Given the description of an element on the screen output the (x, y) to click on. 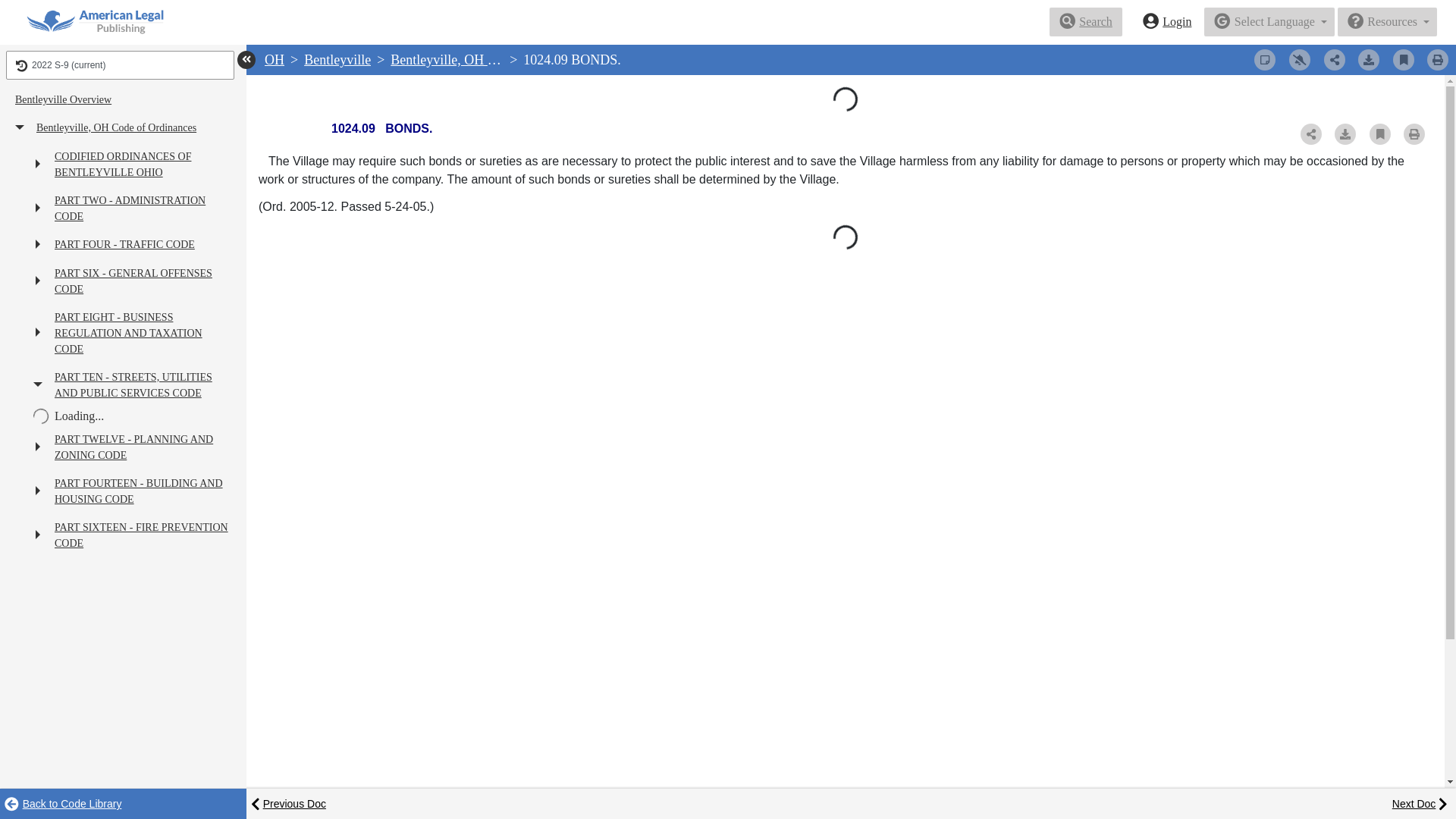
Annotations Off (1264, 59)
Download (1368, 59)
Login (1167, 21)
Search (1085, 21)
Bentleyville, OH Code of Ordinances (492, 59)
Bentleyville (337, 59)
Select Language (1269, 21)
Share (1334, 59)
Ohio (273, 59)
Print (1437, 59)
